Given the description of an element on the screen output the (x, y) to click on. 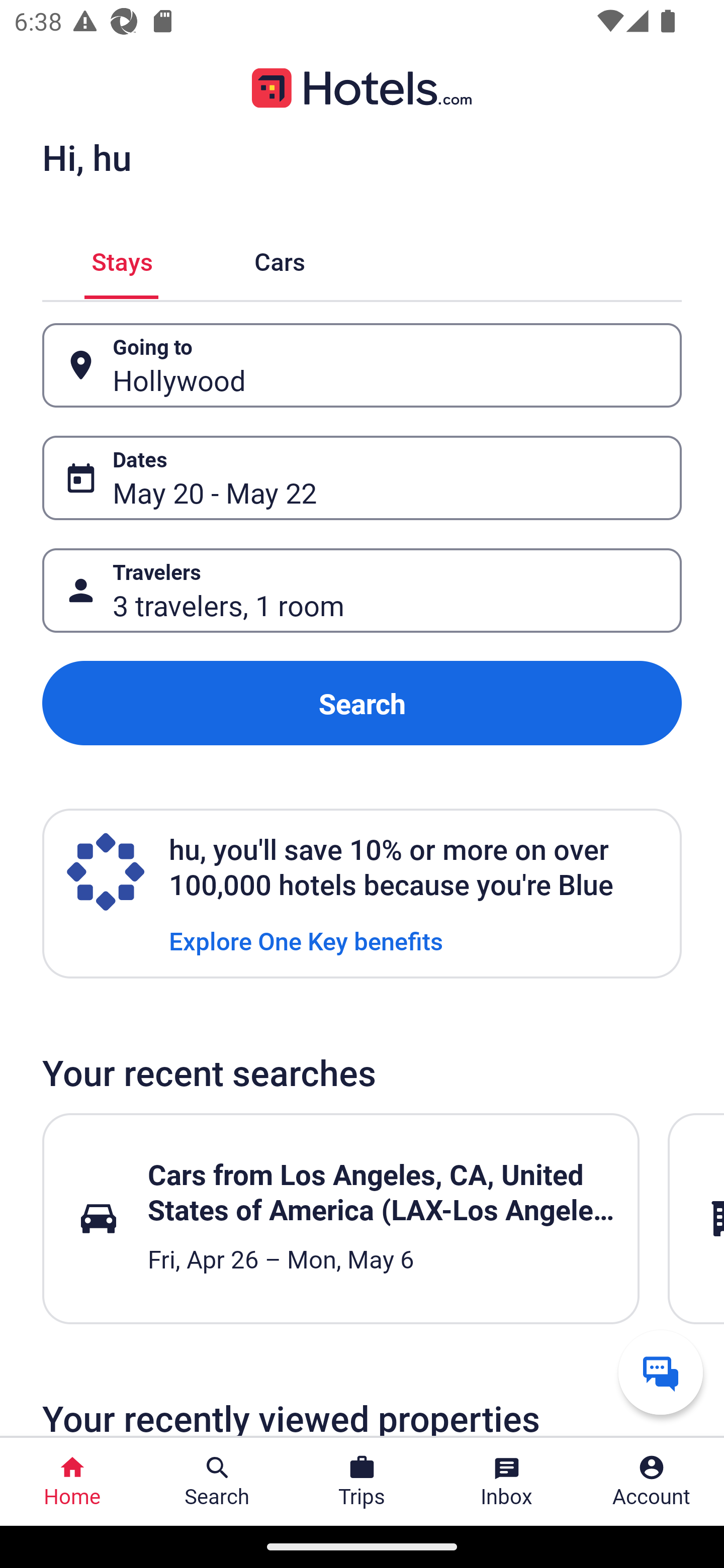
Hi, hu (86, 156)
Cars (279, 259)
Going to Button Hollywood (361, 365)
Dates Button May 20 - May 22 (361, 477)
Travelers Button 3 travelers, 1 room (361, 590)
Search (361, 702)
Get help from a virtual agent (660, 1371)
Search Search Button (216, 1481)
Trips Trips Button (361, 1481)
Inbox Inbox Button (506, 1481)
Account Profile. Button (651, 1481)
